Given the description of an element on the screen output the (x, y) to click on. 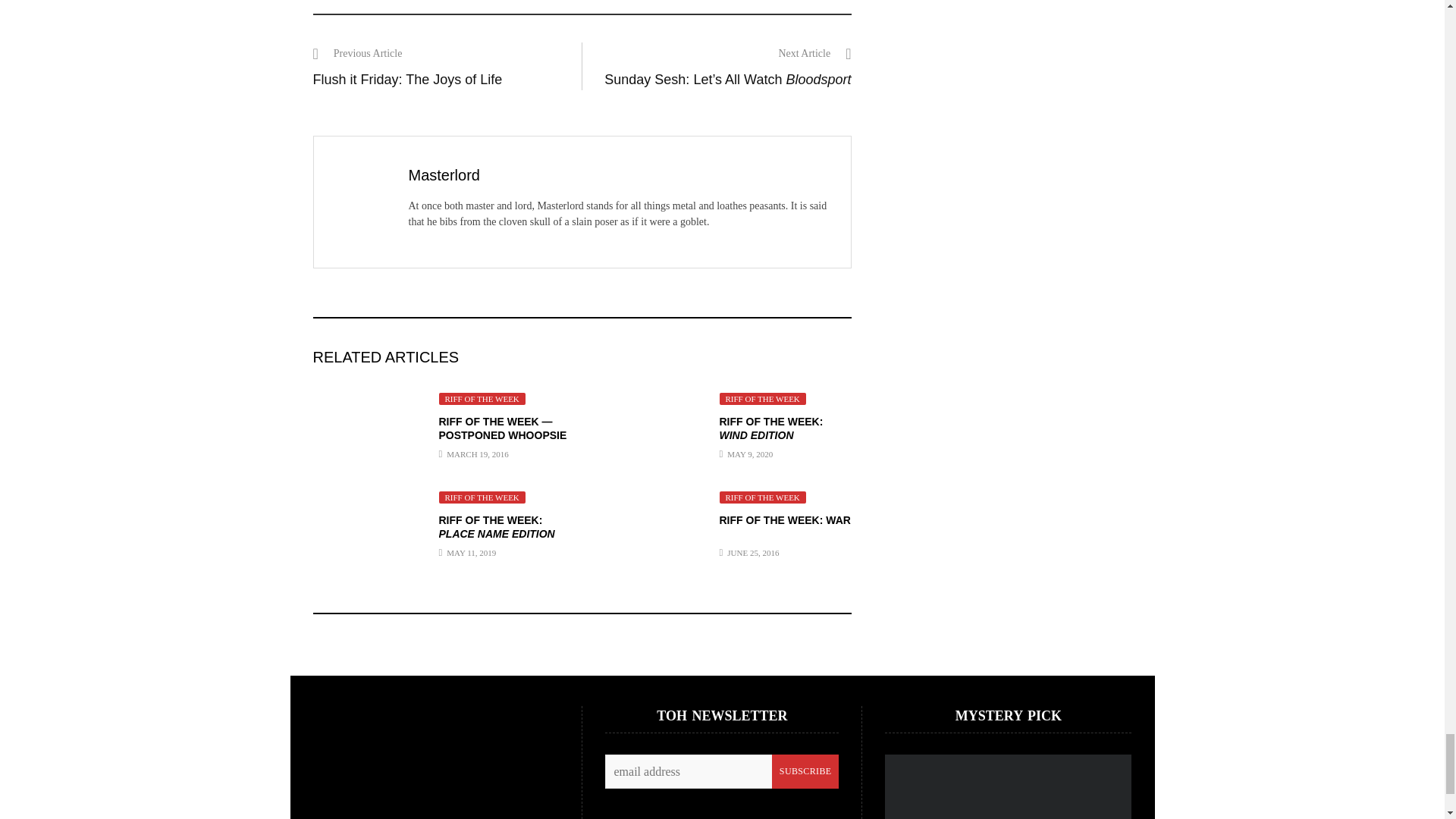
Subscribe (805, 771)
